Given the description of an element on the screen output the (x, y) to click on. 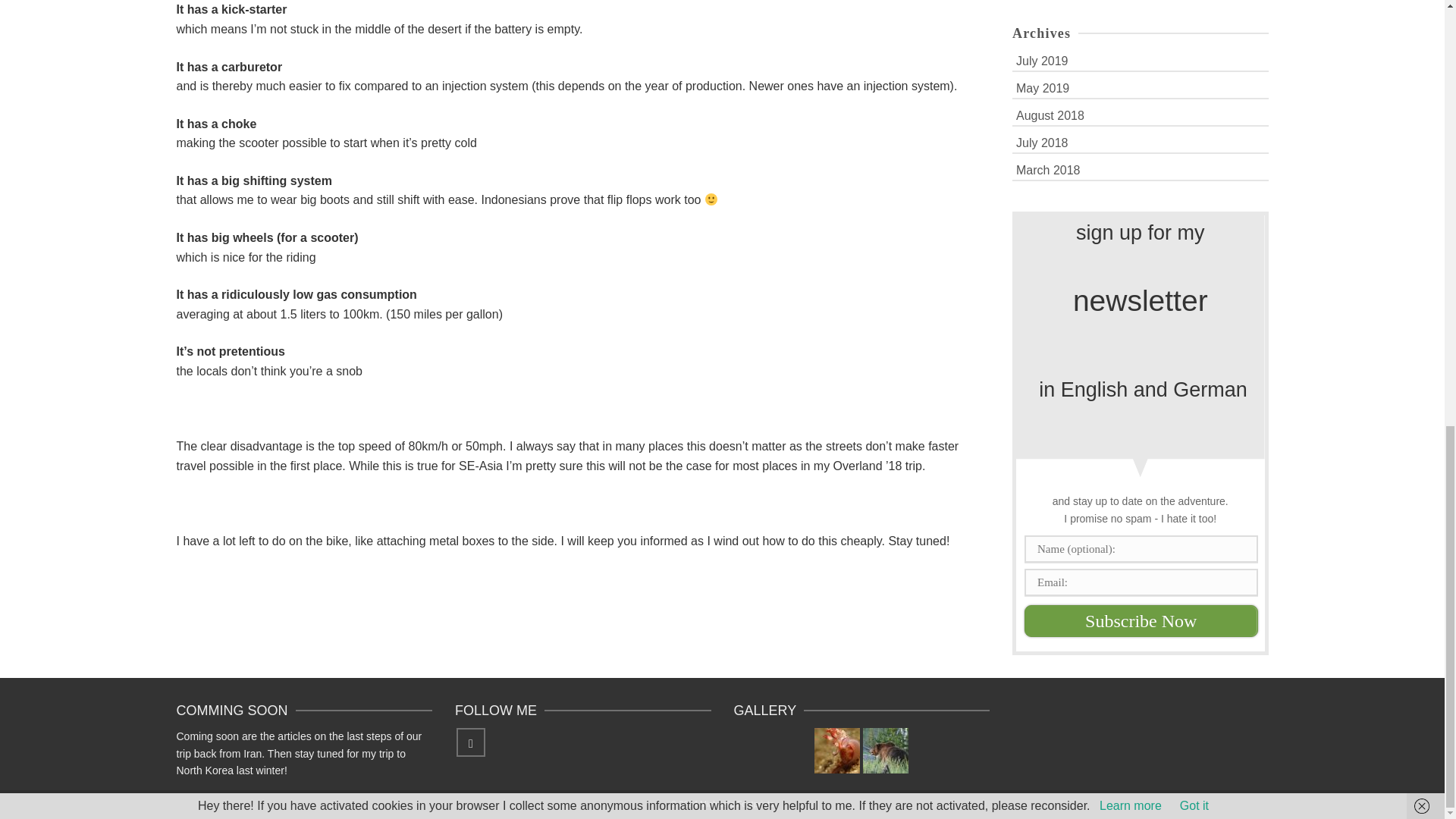
Lembeh Strait (836, 750)
July 2018 (1139, 141)
August 2018 (1139, 114)
July 2019 (1139, 60)
USA West (885, 750)
May 2019 (1139, 87)
Subscribe Now (1141, 621)
March 2018 (1139, 169)
